Given the description of an element on the screen output the (x, y) to click on. 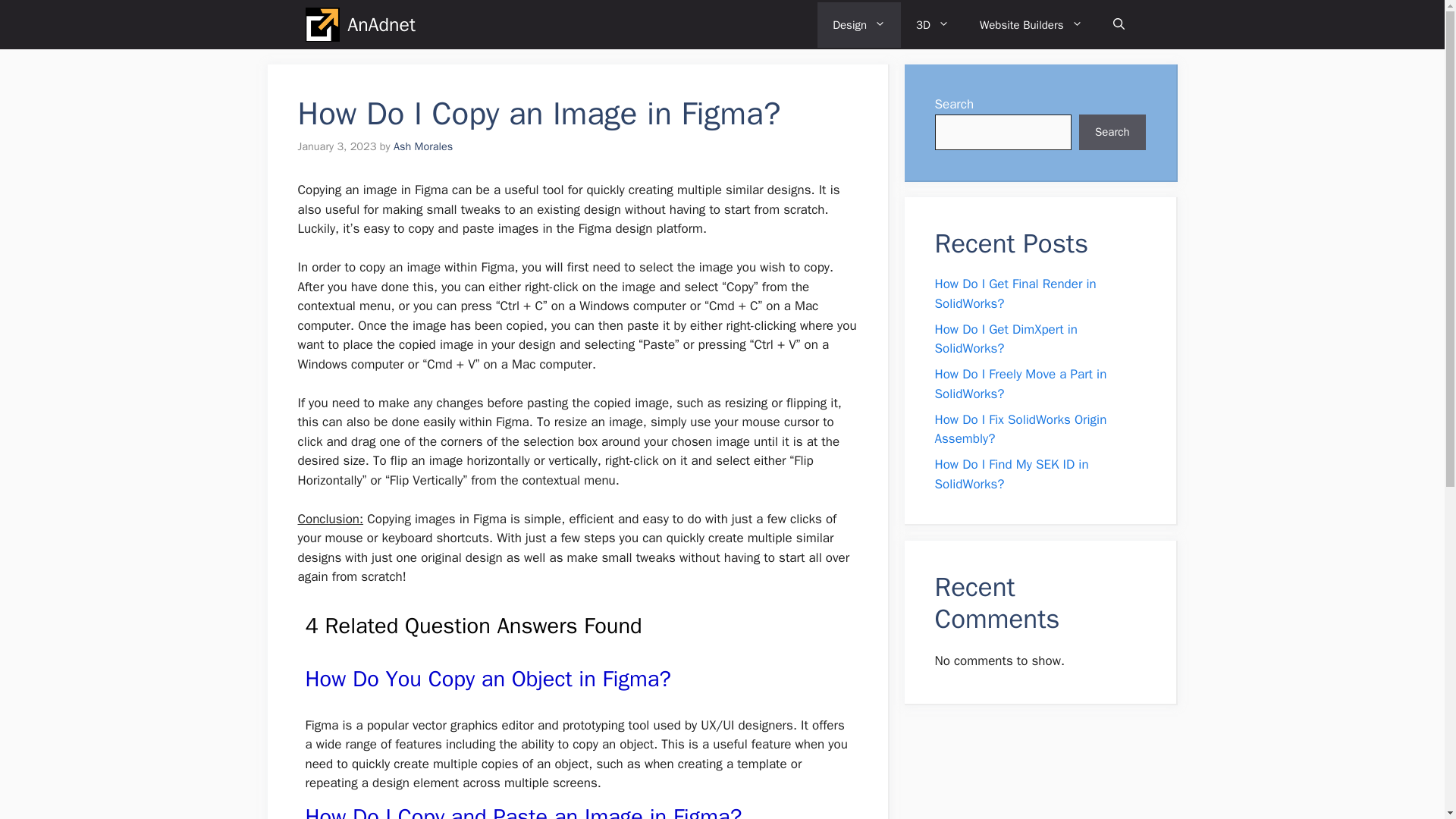
How Do I Copy and Paste an Image in Figma? (522, 811)
How Do I Get DimXpert in SolidWorks? (1005, 339)
How Do I Freely Move a Part in SolidWorks? (1020, 384)
How Do I Find My SEK ID in SolidWorks? (1010, 474)
AnAdnet (380, 24)
Ash Morales (422, 146)
How Do You Copy an Object in Figma? (487, 678)
AnAdnet (321, 24)
Website Builders (1030, 23)
Design (858, 23)
How Do I Fix SolidWorks Origin Assembly? (1020, 428)
View all posts by Ash Morales (422, 146)
How Do I Get Final Render in SolidWorks? (1015, 294)
3D (932, 23)
Search (1111, 131)
